Given the description of an element on the screen output the (x, y) to click on. 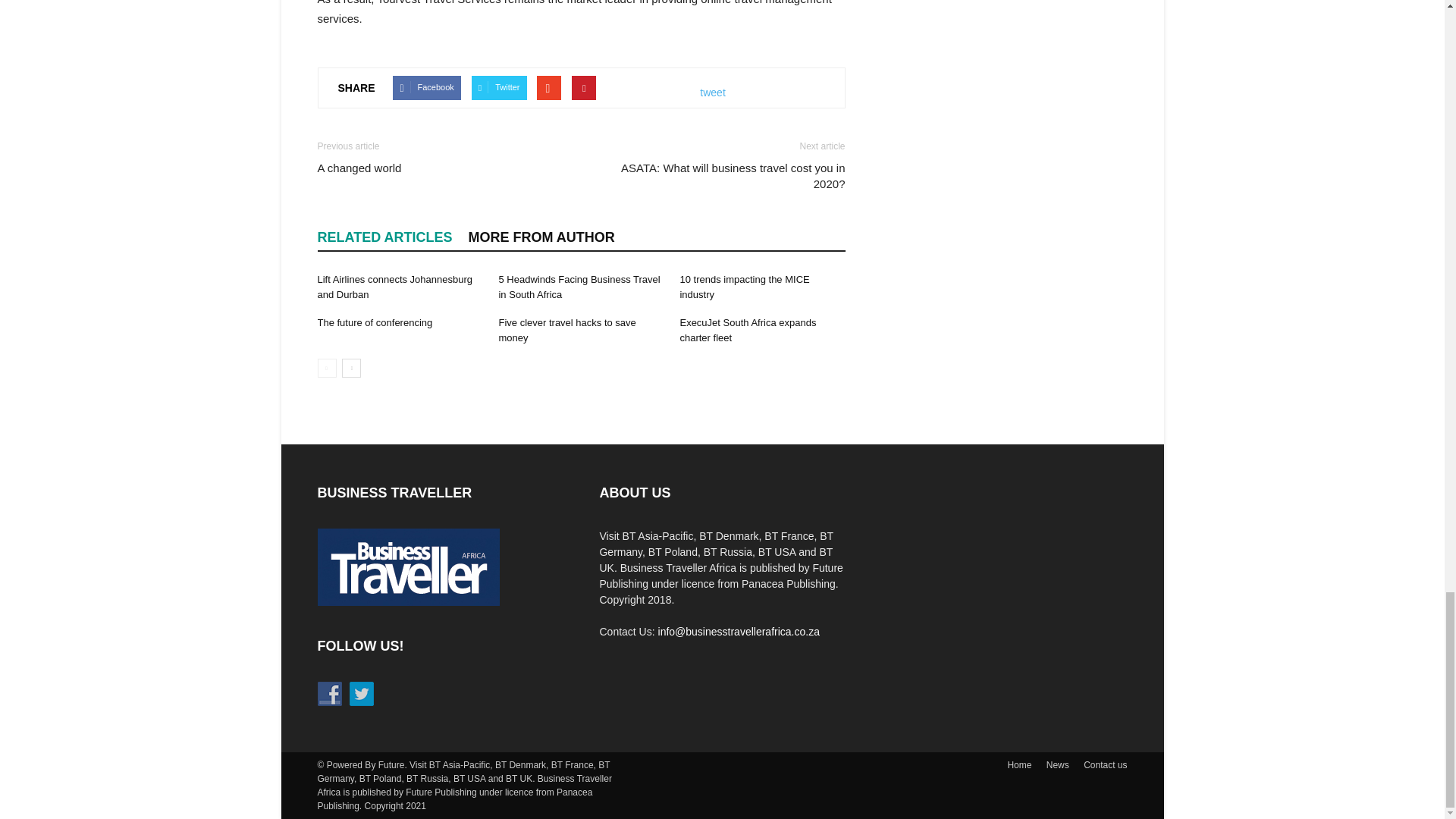
Lift Airlines connects Johannesburg and Durban (394, 286)
ExecuJet South Africa expands charter fleet (747, 329)
5 Headwinds Facing Business Travel in South Africa (578, 286)
10 trends impacting the MICE industry (744, 286)
The future of conferencing (374, 322)
Five clever travel hacks to save money (565, 329)
